Given the description of an element on the screen output the (x, y) to click on. 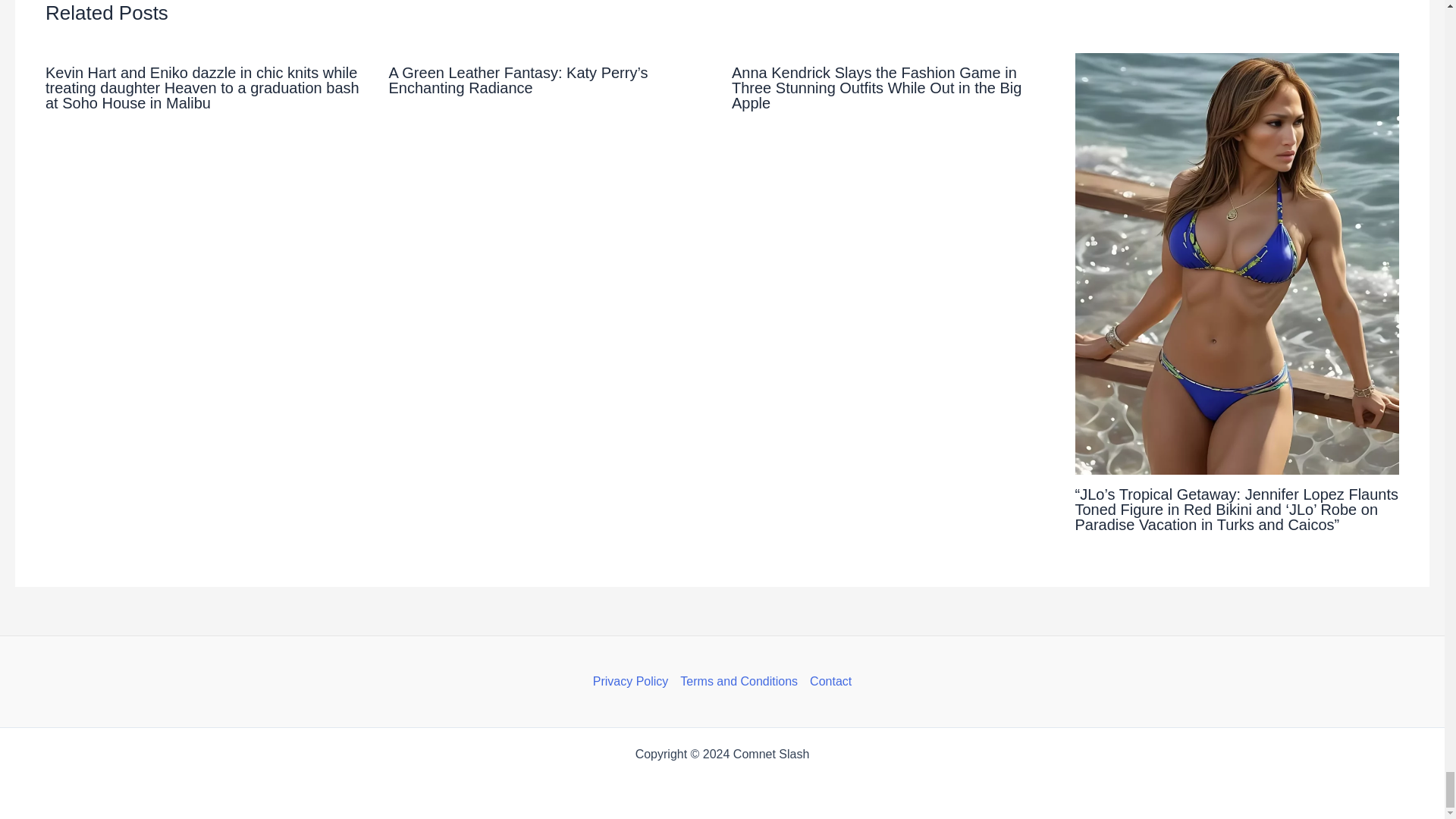
Terms and Conditions (738, 681)
Privacy Policy (633, 681)
Contact (827, 681)
